Given the description of an element on the screen output the (x, y) to click on. 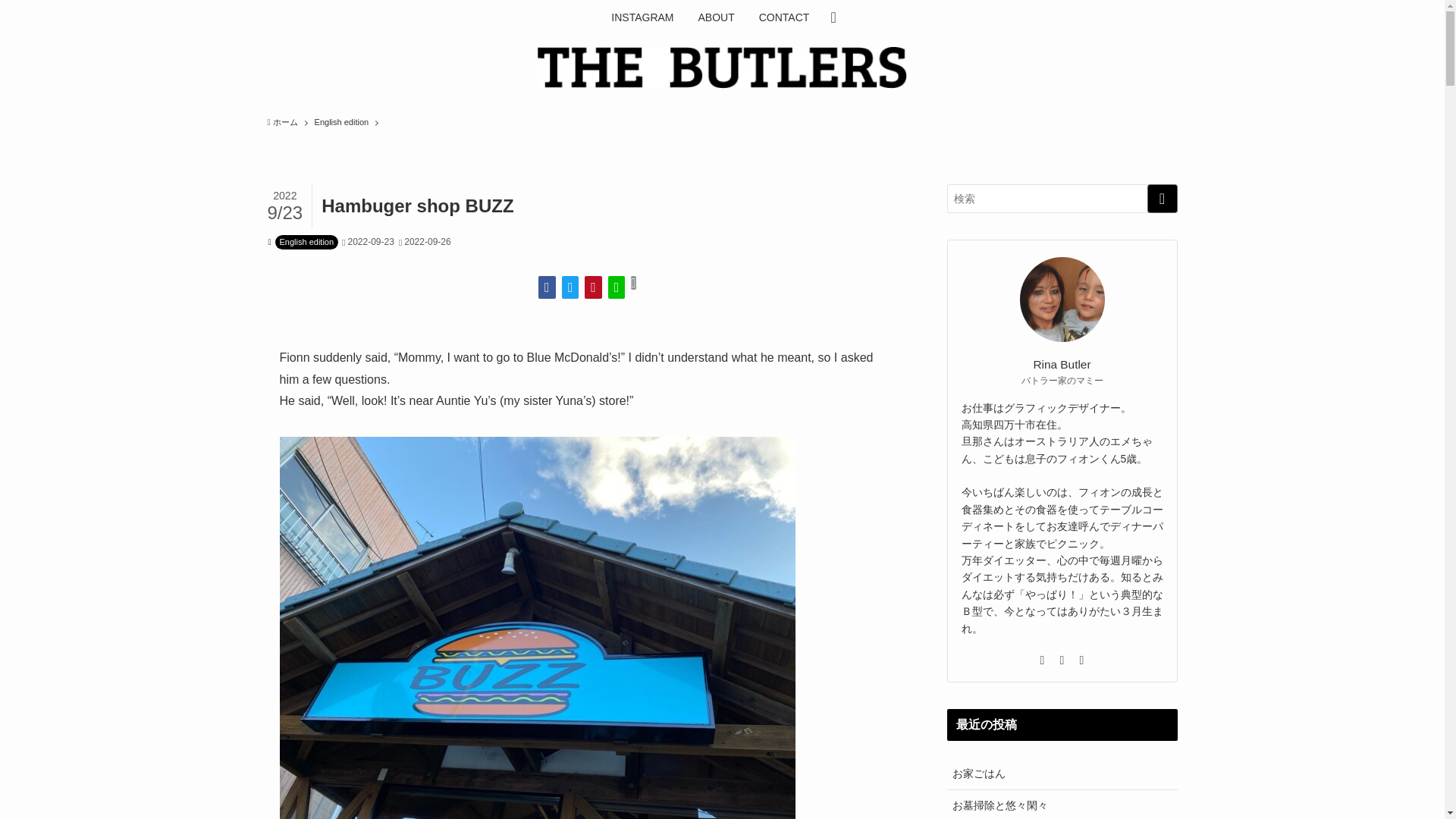
English edition (341, 122)
CONTACT (784, 17)
INSTAGRAM (641, 17)
ABOUT (715, 17)
English edition (306, 242)
